Given the description of an element on the screen output the (x, y) to click on. 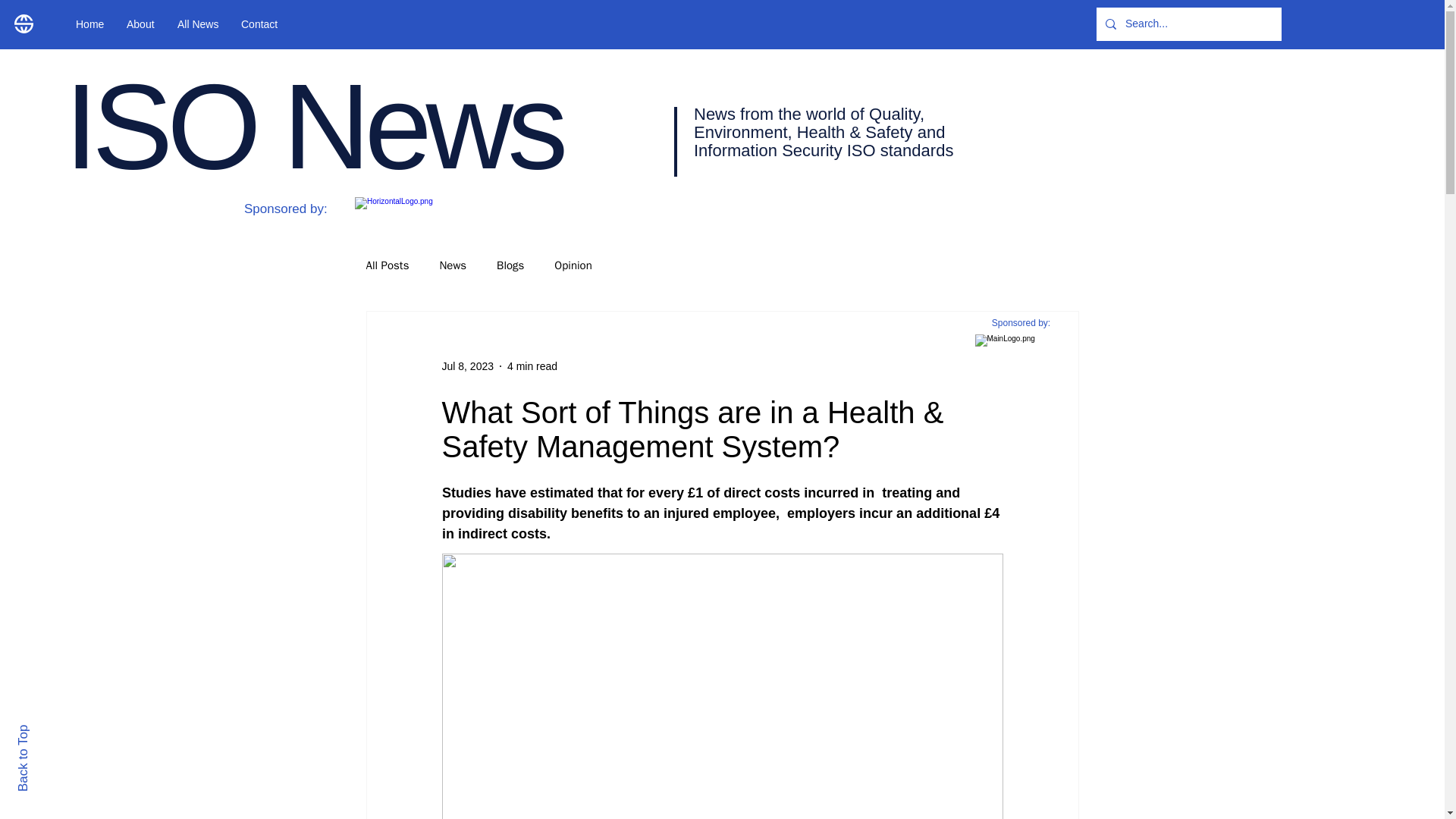
Blogs (510, 264)
Jul 8, 2023 (467, 365)
All Posts (387, 264)
4 min read (531, 365)
Back to Top (49, 730)
Contact (259, 24)
About (140, 24)
ISO News (313, 126)
News (452, 264)
Home (89, 24)
